Given the description of an element on the screen output the (x, y) to click on. 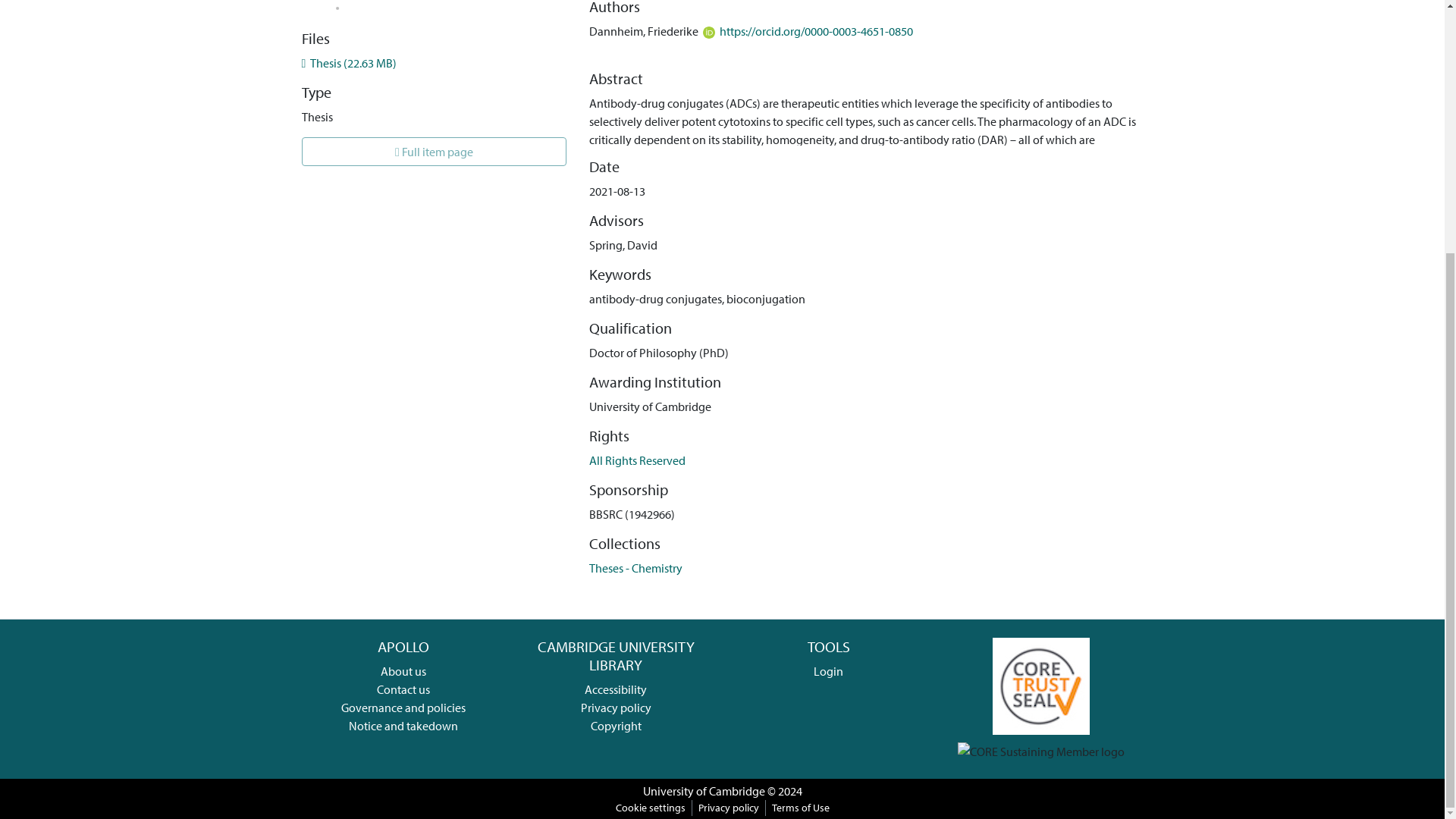
All Rights Reserved (637, 459)
Notice and takedown (403, 725)
Privacy policy (615, 707)
Apollo CTS full application (1040, 684)
Copyright (616, 725)
Theses - Chemistry (635, 567)
Contact us (403, 688)
About us (403, 670)
Full item page (434, 151)
Accessibility (615, 688)
Login (828, 670)
Governance and policies (402, 707)
